Given the description of an element on the screen output the (x, y) to click on. 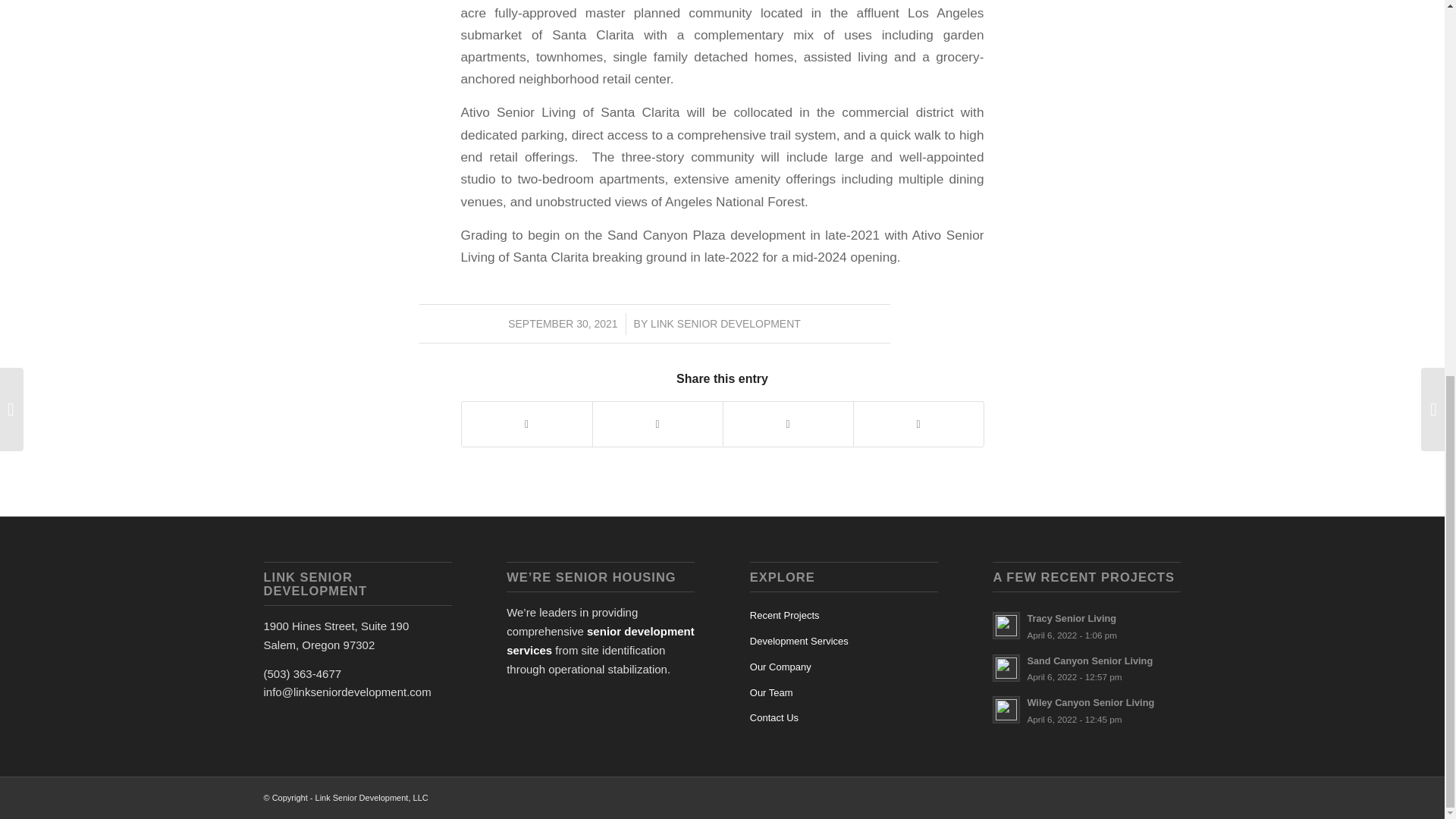
LINK SENIOR DEVELOPMENT (725, 323)
Our Company (843, 667)
Sand Canyon Senior Living (1086, 668)
Wiley Canyon Senior Living (1086, 709)
Development Services (843, 642)
Our Team (843, 693)
Posts by Link Senior Development (1086, 625)
Tracy Senior Living (725, 323)
Recent Projects (1086, 668)
Contact Us (1086, 709)
